Given the description of an element on the screen output the (x, y) to click on. 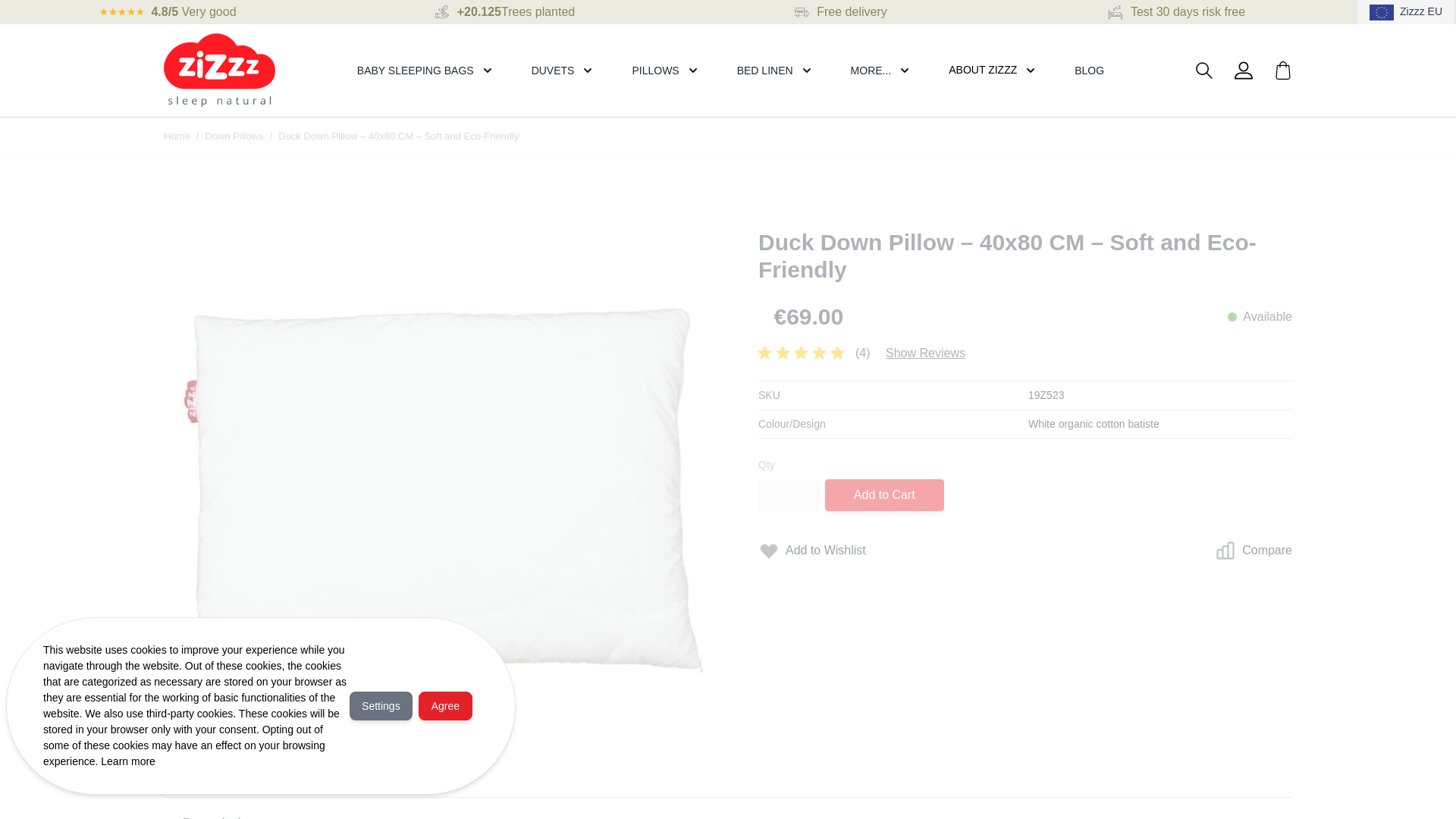
Agree (445, 705)
Baby sleeping bags and duvets - Zizzz (219, 70)
Go to Home Page (176, 136)
BABY SLEEPING BAGS (415, 69)
Add to Wish List (812, 550)
Availability (1259, 316)
Settings (380, 705)
Test 30 days risk free (1187, 11)
Learn more (127, 761)
Toggle submenu for Baby sleeping bags (487, 69)
Free delivery (851, 11)
Add to Compare (1253, 550)
Cart (1283, 69)
Add to Cart (884, 495)
